Given the description of an element on the screen output the (x, y) to click on. 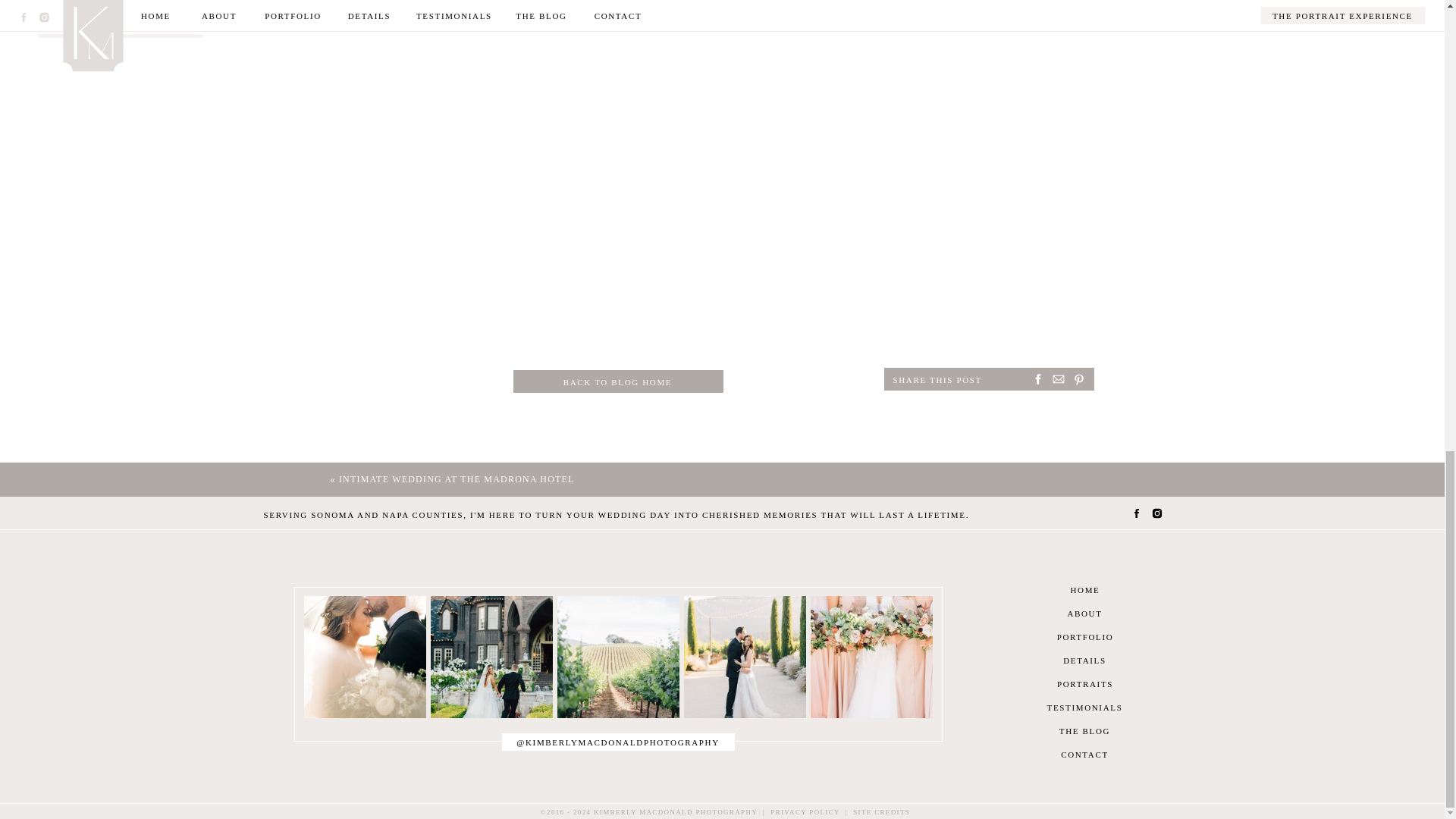
PORTRAIT SESSIONS (119, 29)
GET THE WEDDING DETAILS (119, 4)
TESTIMONIALS (1084, 707)
DETAILS (1084, 659)
PORTFOLIO (1084, 635)
THE BLOG (1084, 730)
HOME (1084, 589)
PORTRAITS (1084, 683)
BACK TO BLOG HOME (617, 381)
ABOUT (1083, 612)
SITE CREDITS (881, 811)
CONTACT (1083, 753)
INTIMATE WEDDING AT THE MADRONA HOTEL (457, 479)
